Given the description of an element on the screen output the (x, y) to click on. 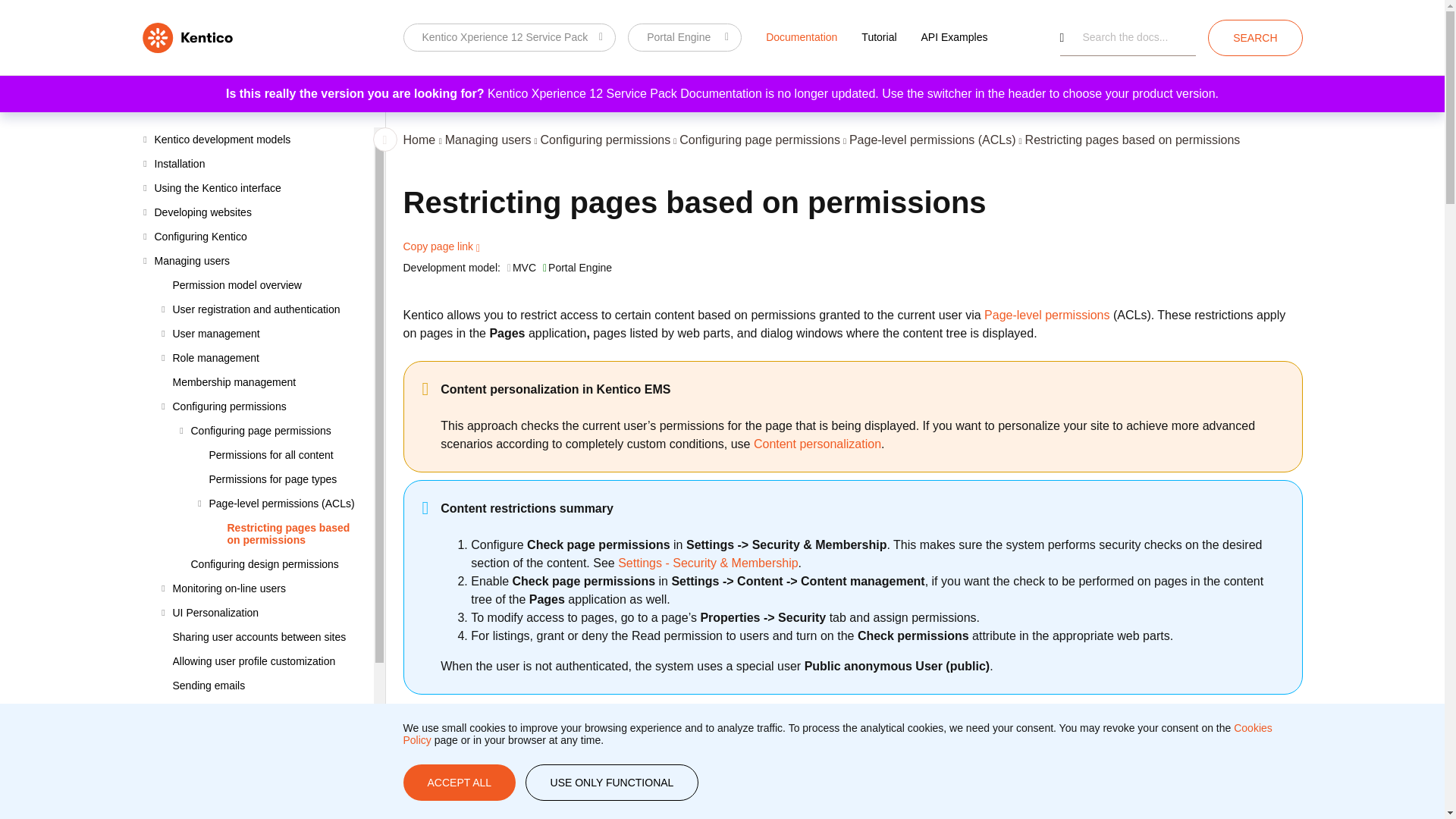
Kentico development models (257, 139)
Tutorial (878, 37)
Tutorial (878, 37)
API Examples (954, 37)
API Examples (954, 37)
Documentation (801, 37)
Kentico Xperience 12 Service Pack (509, 36)
Which Kentico Xperience version do you have? (509, 36)
Portal Engine (684, 36)
SEARCH (1254, 37)
Which development model do you use? (684, 36)
Documentation (801, 37)
